Given the description of an element on the screen output the (x, y) to click on. 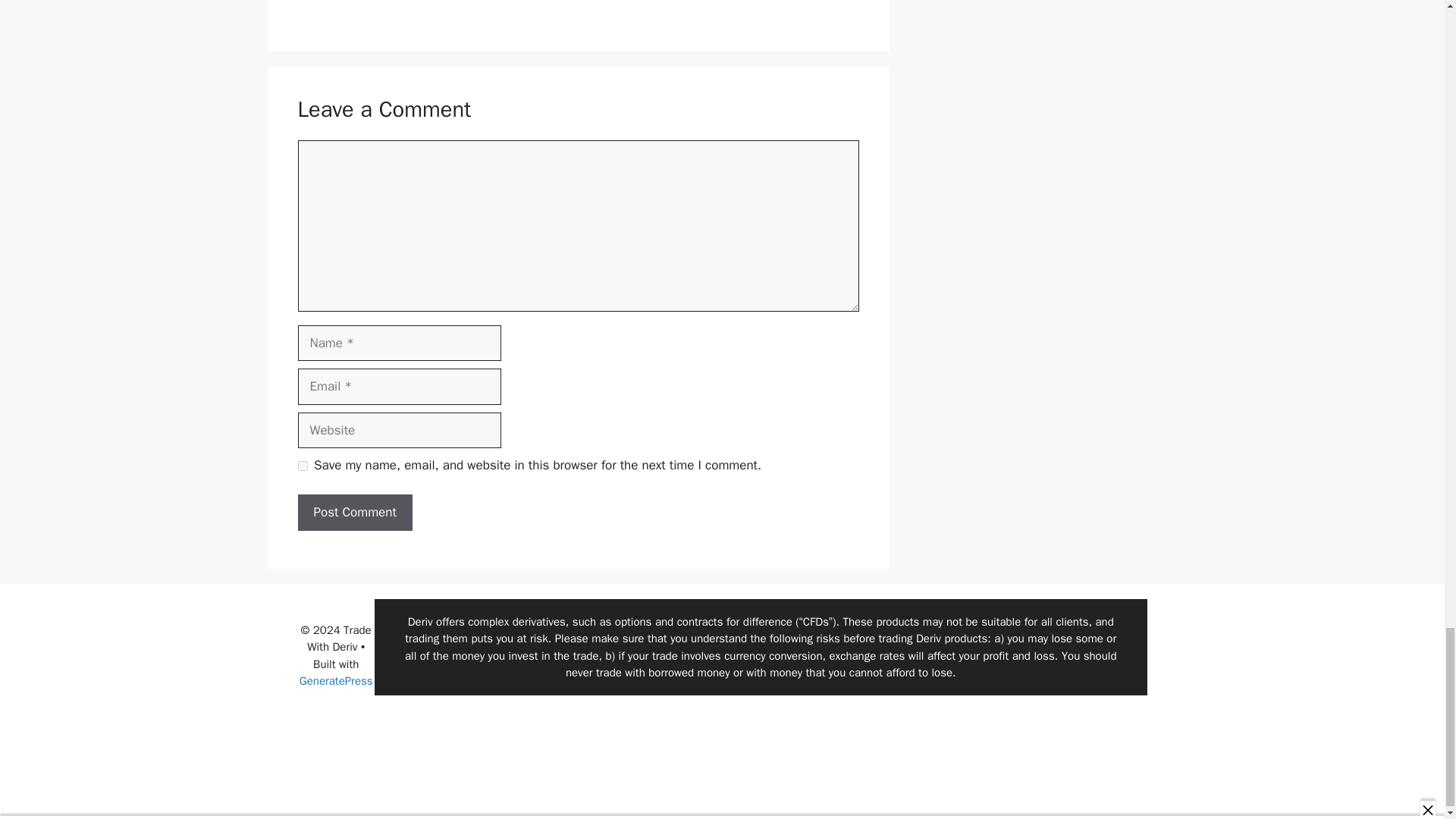
Post Comment (354, 512)
GeneratePress (335, 680)
Post Comment (354, 512)
yes (302, 465)
